Given the description of an element on the screen output the (x, y) to click on. 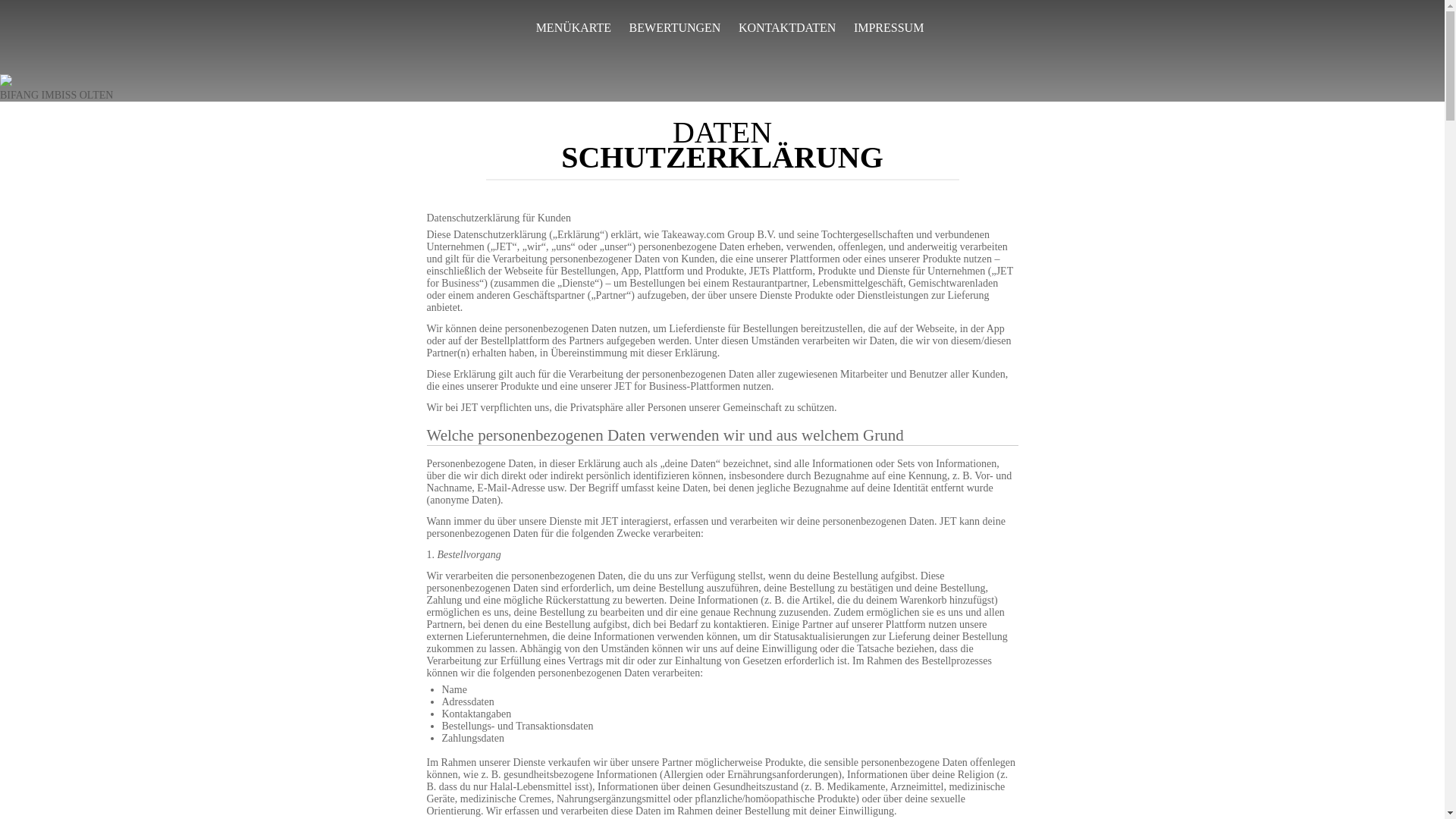
KONTAKTDATEN Element type: text (786, 27)
IMPRESSUM Element type: text (888, 27)
BEWERTUNGEN Element type: text (675, 27)
